Given the description of an element on the screen output the (x, y) to click on. 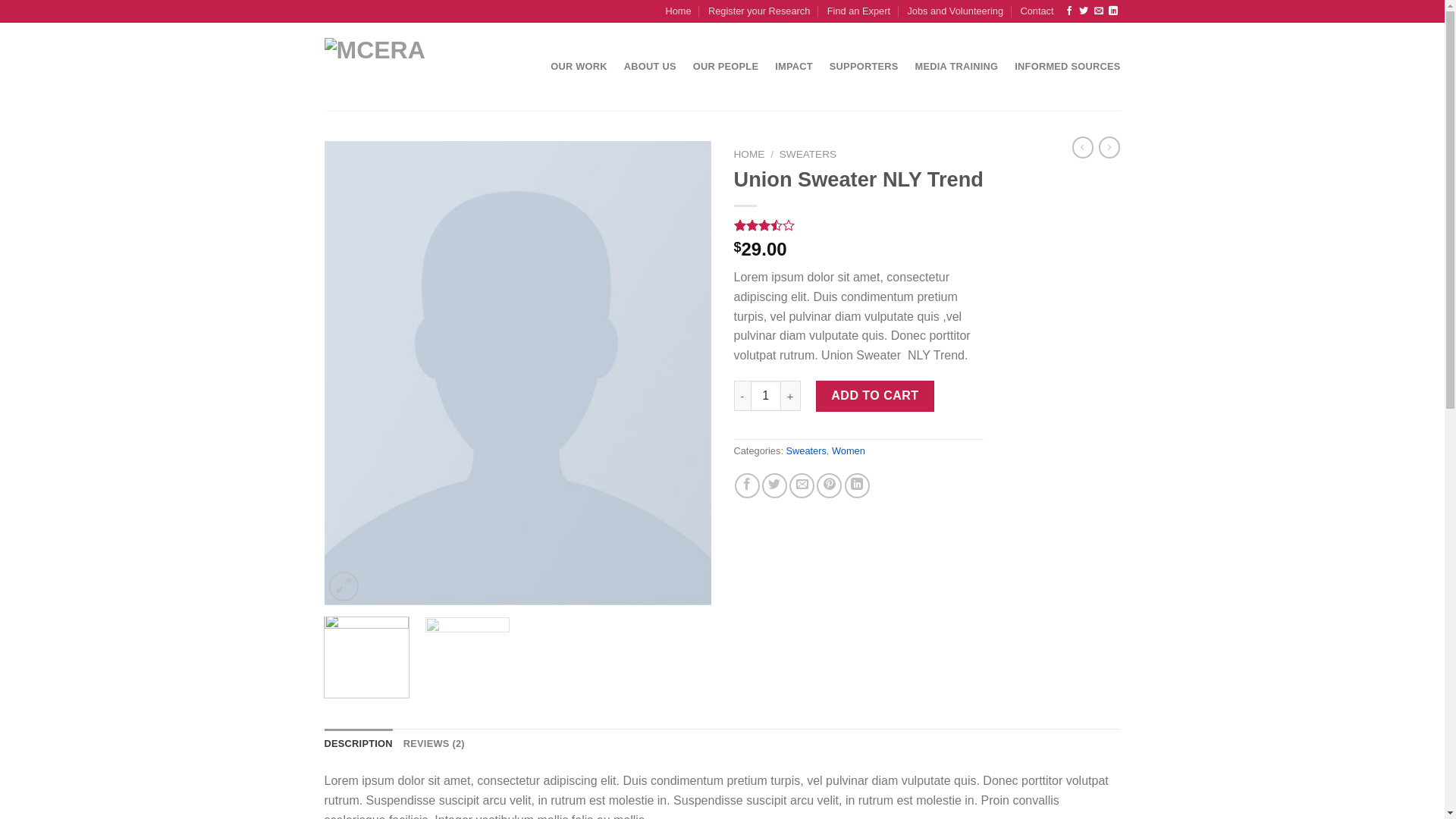
Contact Element type: text (1036, 11)
Pin on Pinterest Element type: hover (828, 485)
Send us an email Element type: hover (1098, 11)
Share on Facebook Element type: hover (746, 485)
Follow on LinkedIn Element type: hover (1112, 11)
Follow on Facebook Element type: hover (1068, 11)
OUR PEOPLE Element type: text (725, 66)
Sweaters Element type: text (805, 450)
MCERA - Media Centre for Education Research Australia Element type: hover (397, 66)
Zoom Element type: hover (343, 586)
ADD TO CART Element type: text (874, 395)
INFORMED SOURCES Element type: text (1067, 66)
REVIEWS (2) Element type: text (433, 743)
Register your Research Element type: text (758, 11)
OUR WORK Element type: text (578, 66)
DESCRIPTION Element type: text (358, 743)
MEDIA TRAINING Element type: text (956, 66)
Follow on Twitter Element type: hover (1083, 11)
Jobs and Volunteering Element type: text (954, 11)
Share on LinkedIn Element type: hover (856, 485)
Email to a Friend Element type: hover (801, 485)
Share on Twitter Element type: hover (774, 485)
Qty Element type: hover (765, 395)
Women Element type: text (848, 450)
Home Element type: text (677, 11)
HOME Element type: text (749, 154)
Rated out of 5 based on
2
customer ratings Element type: text (859, 225)
SWEATERS Element type: text (807, 154)
Find an Expert Element type: text (858, 11)
ABOUT US Element type: text (650, 66)
IMPACT Element type: text (793, 66)
SUPPORTERS Element type: text (863, 66)
Product Dummy Image Element type: hover (517, 373)
